Given the description of an element on the screen output the (x, y) to click on. 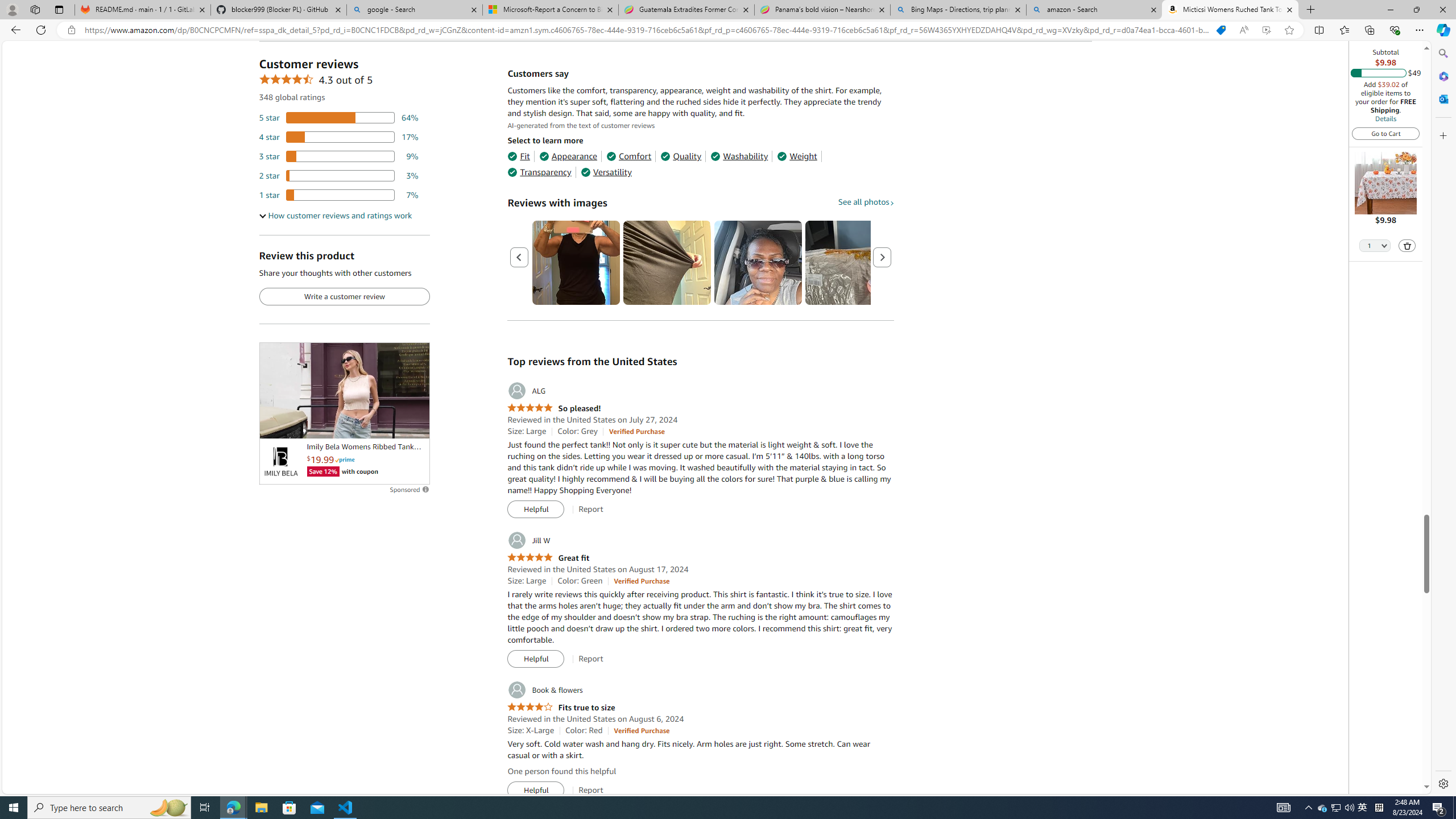
Fit (517, 156)
Report (590, 790)
Previous page (518, 256)
64 percent of reviews have 5 stars (339, 117)
ALG (526, 390)
Appearance (568, 156)
Jill W (528, 540)
5.0 out of 5 stars Great fit (547, 557)
